Given the description of an element on the screen output the (x, y) to click on. 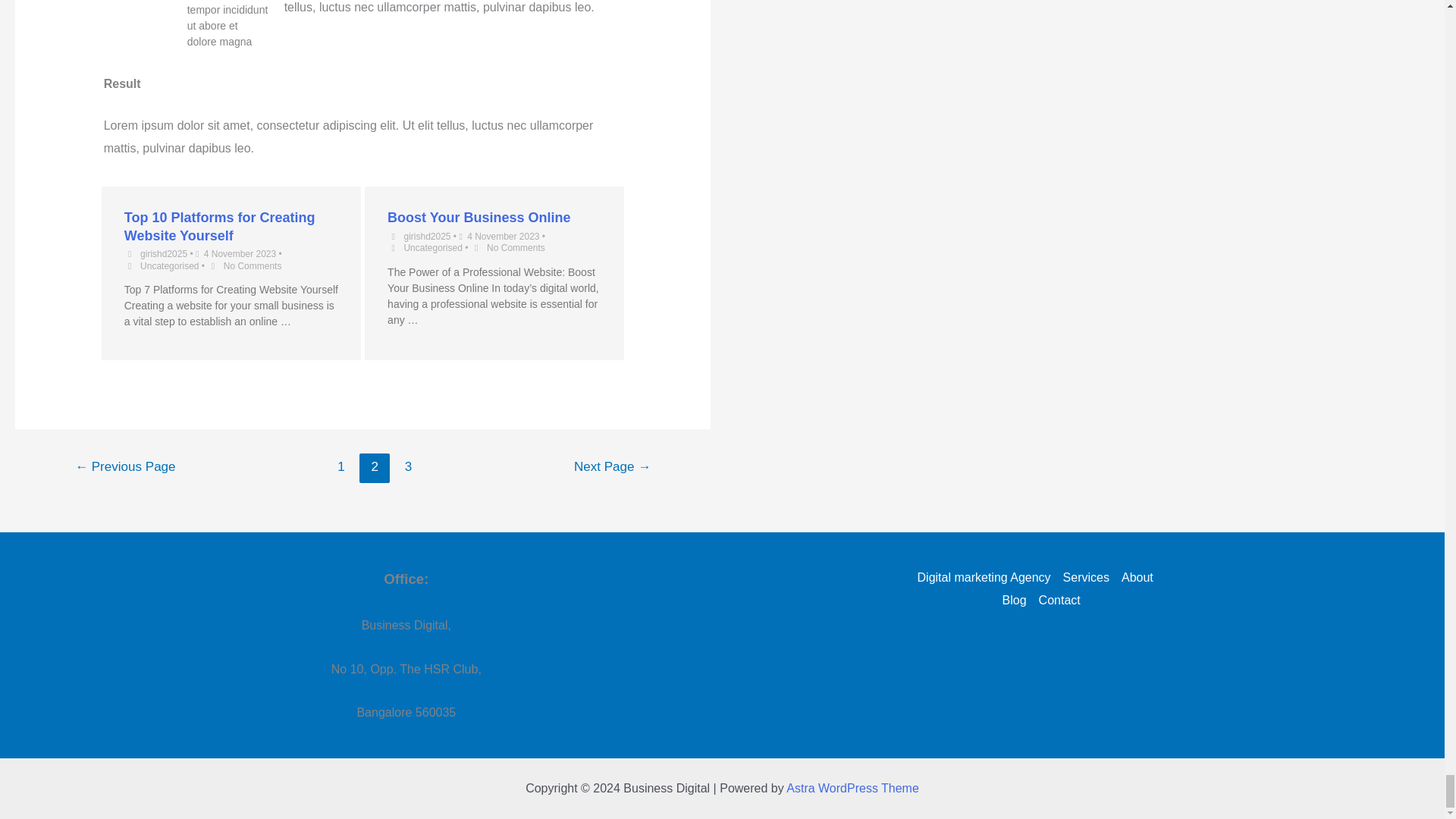
Posts by girishd2025 (426, 235)
Posts by girishd2025 (163, 253)
